Given the description of an element on the screen output the (x, y) to click on. 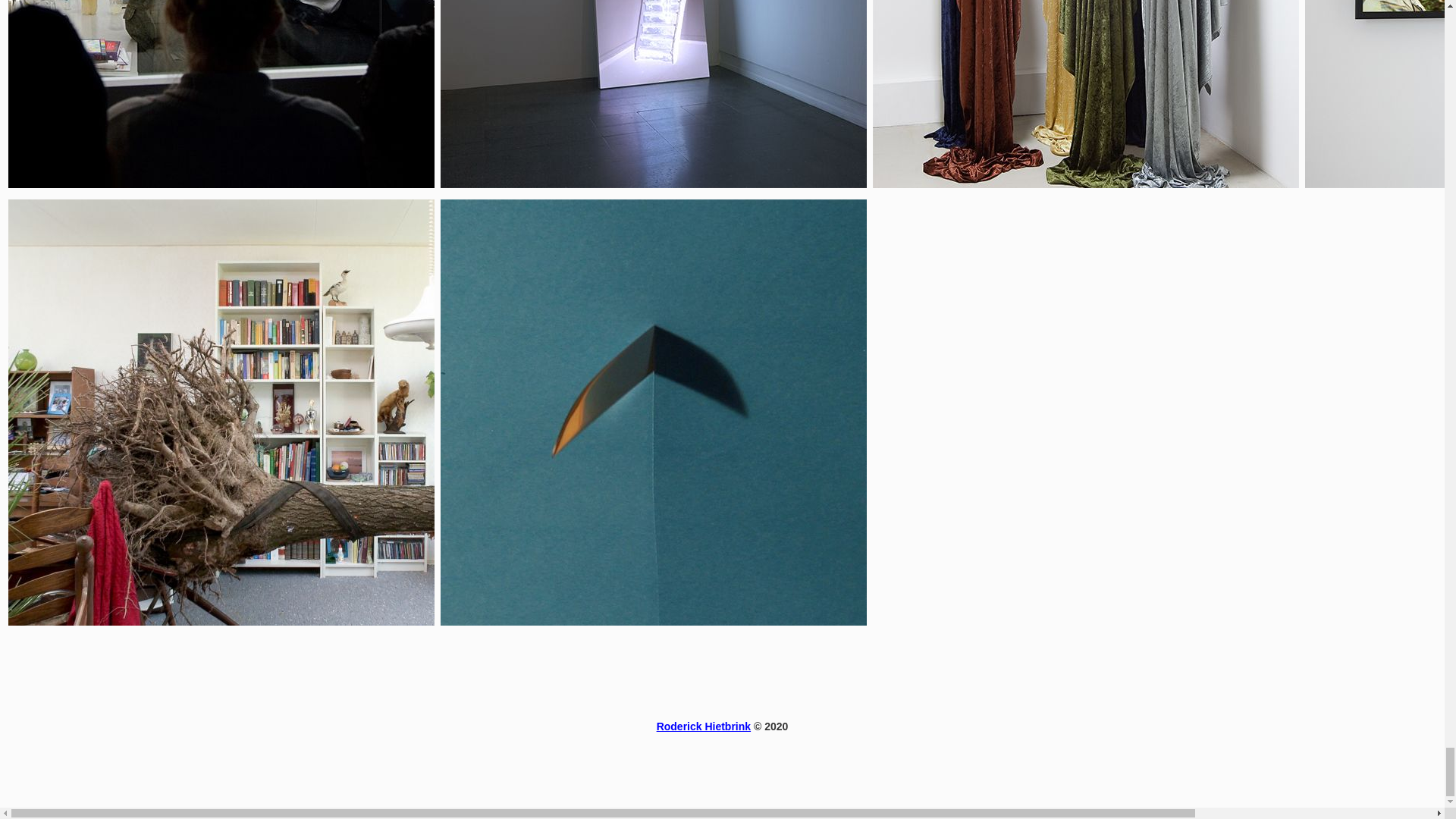
Roderick Hietbrink (703, 726)
